Given the description of an element on the screen output the (x, y) to click on. 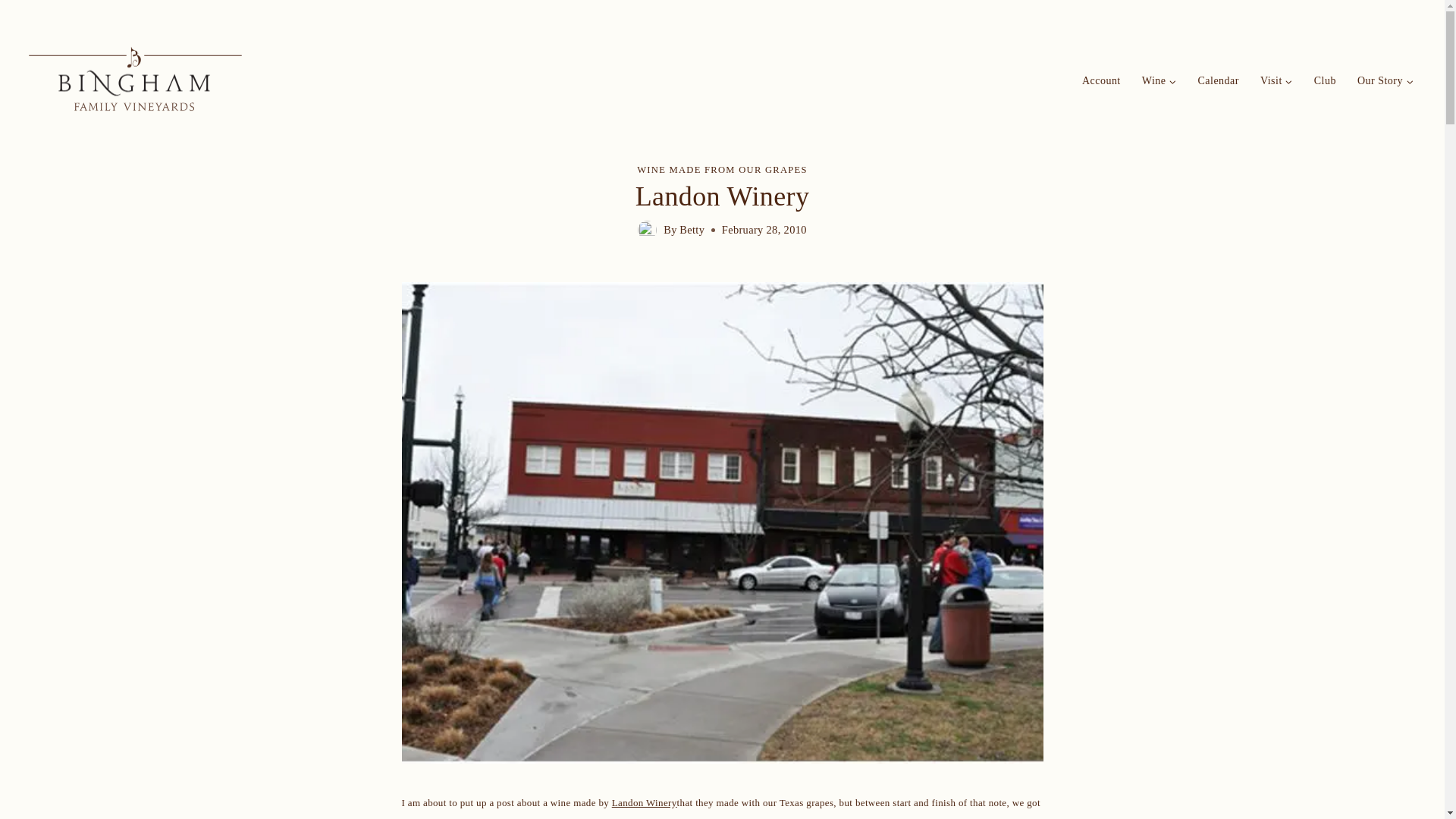
Landon Winery (644, 801)
Calendar (1217, 80)
Wine (1159, 80)
WINE MADE FROM OUR GRAPES (722, 169)
Our Story (1384, 80)
Club (1324, 80)
Account (1101, 80)
Visit (1276, 80)
